Given the description of an element on the screen output the (x, y) to click on. 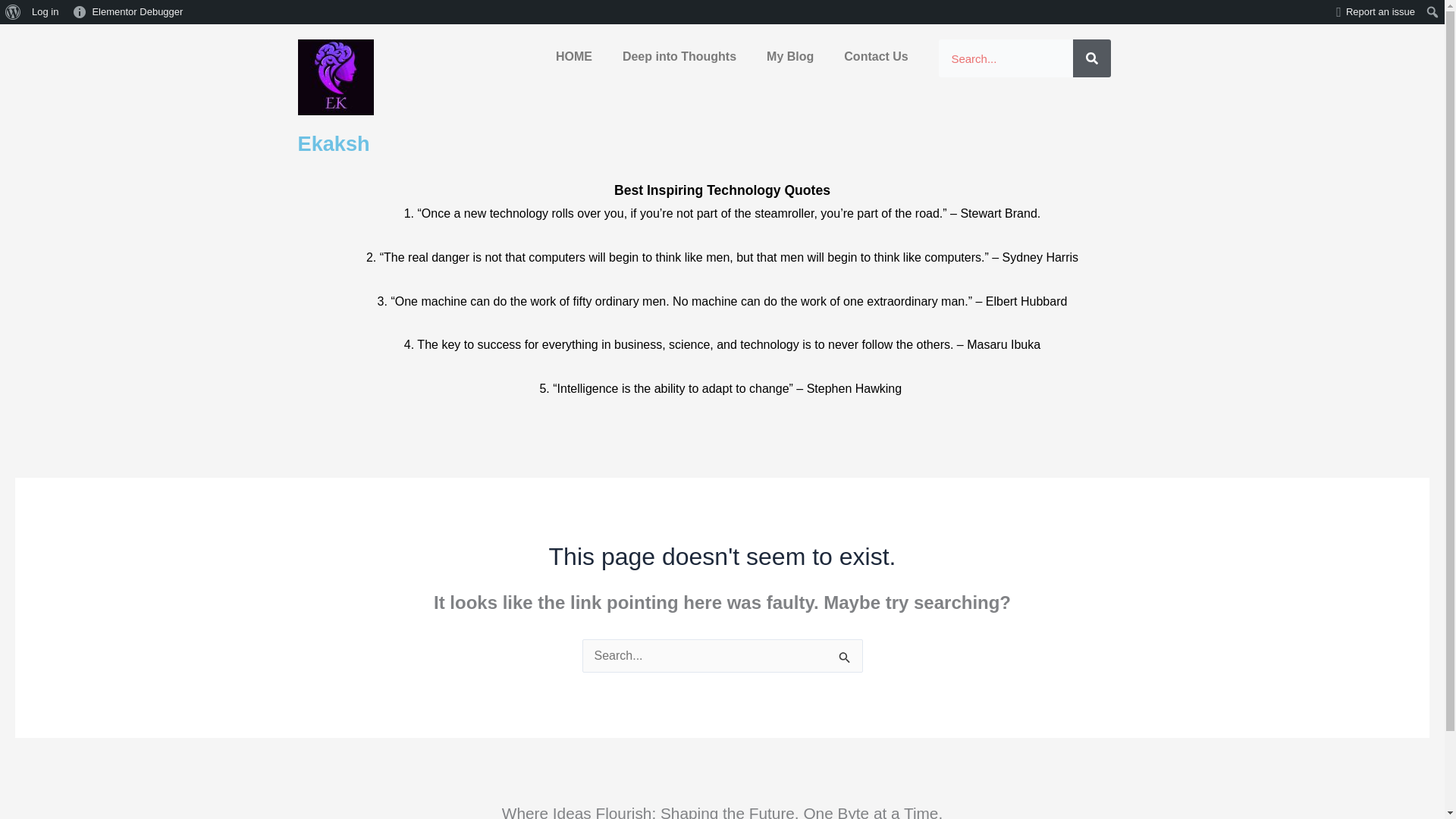
Search (15, 12)
Search (1091, 57)
HOME (573, 56)
Deep into Thoughts (679, 56)
Contact Us (875, 56)
Ekaksh (333, 143)
My Blog (789, 56)
Log in (45, 12)
Report an issue (1375, 12)
